Given the description of an element on the screen output the (x, y) to click on. 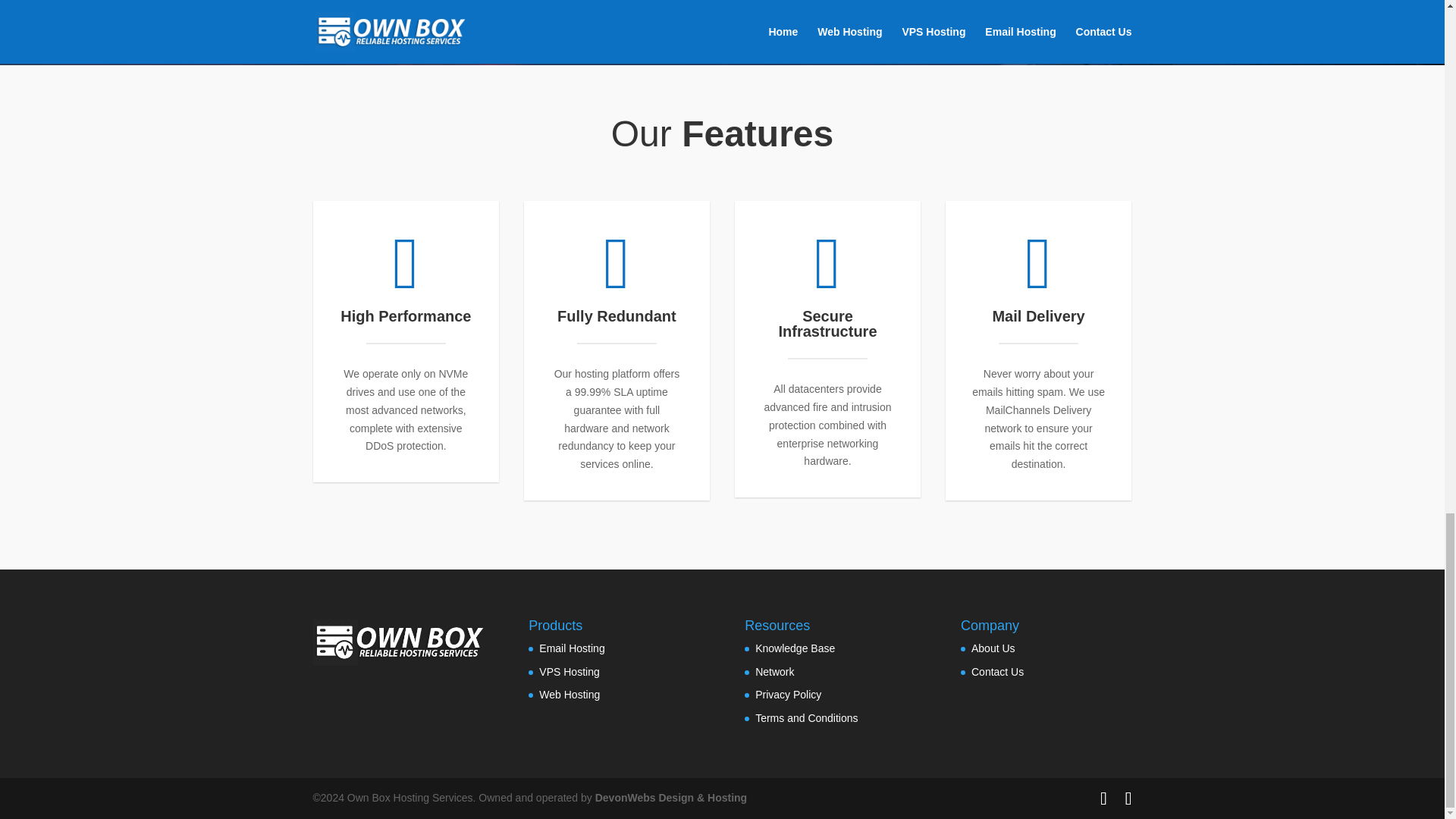
Privacy Policy (788, 694)
Knowledge Base (794, 648)
Contact Us (997, 671)
VPS Hosting (568, 671)
About Us (992, 648)
Web Hosting (568, 694)
Network (774, 671)
Email Hosting (571, 648)
Terms and Conditions (806, 717)
